Given the description of an element on the screen output the (x, y) to click on. 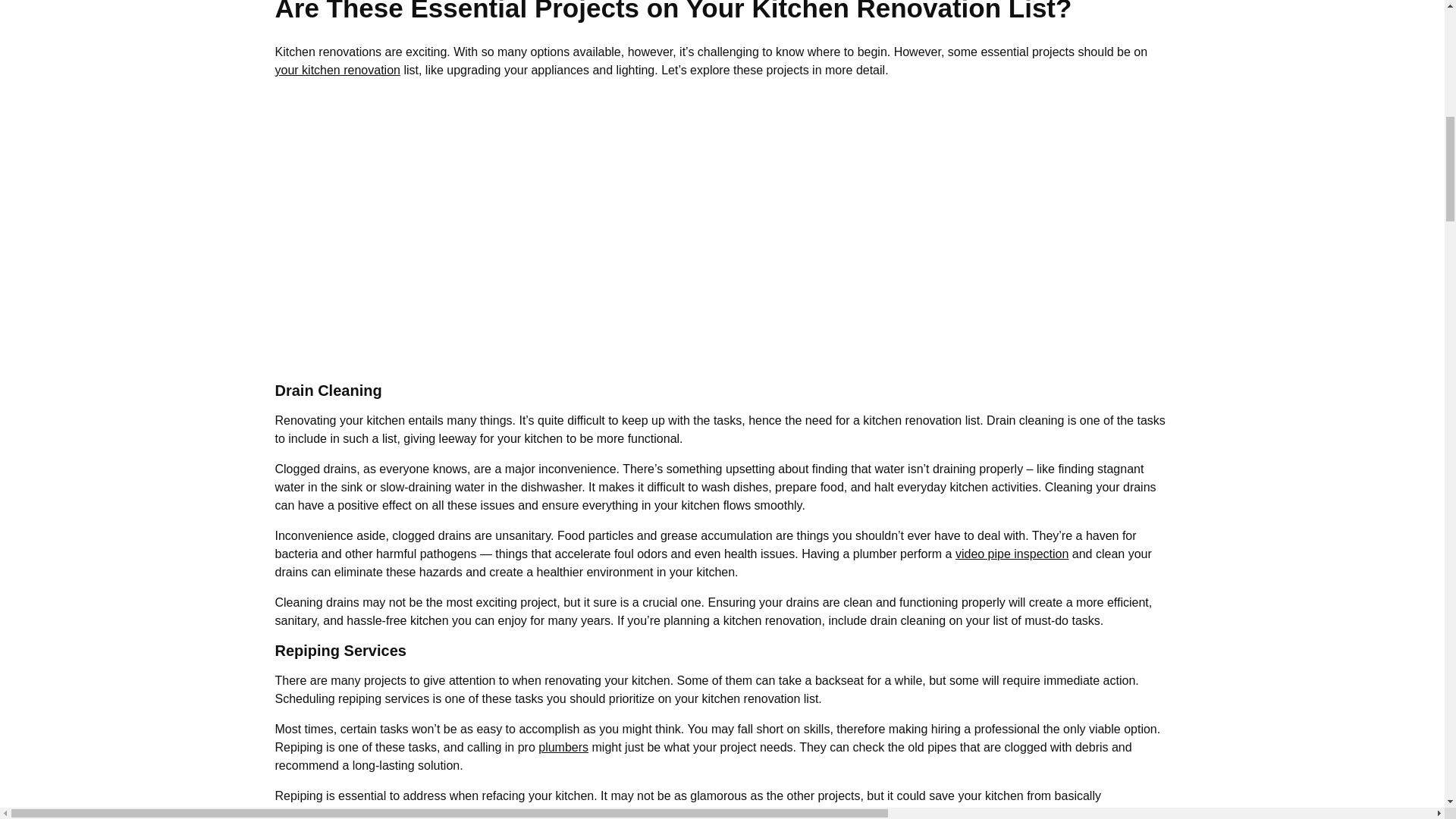
your kitchen renovation (336, 69)
plumbers (563, 747)
The essential kitchen renovation checklist (517, 227)
video pipe inspection (1011, 553)
